Given the description of an element on the screen output the (x, y) to click on. 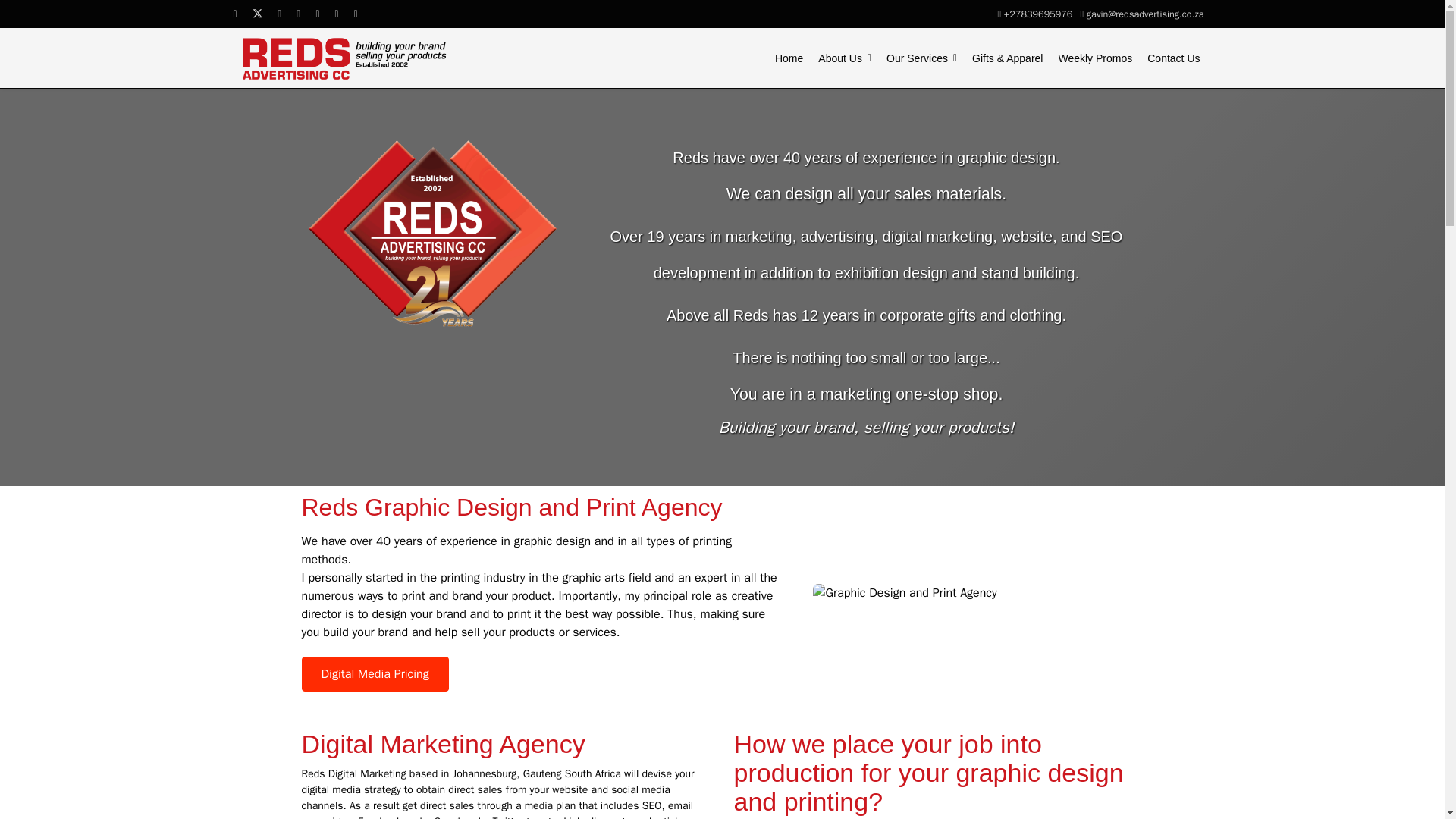
Contact Us (1173, 57)
Digital Media Pricing (374, 673)
About Us (844, 57)
Weekly Promos (1094, 57)
